Given the description of an element on the screen output the (x, y) to click on. 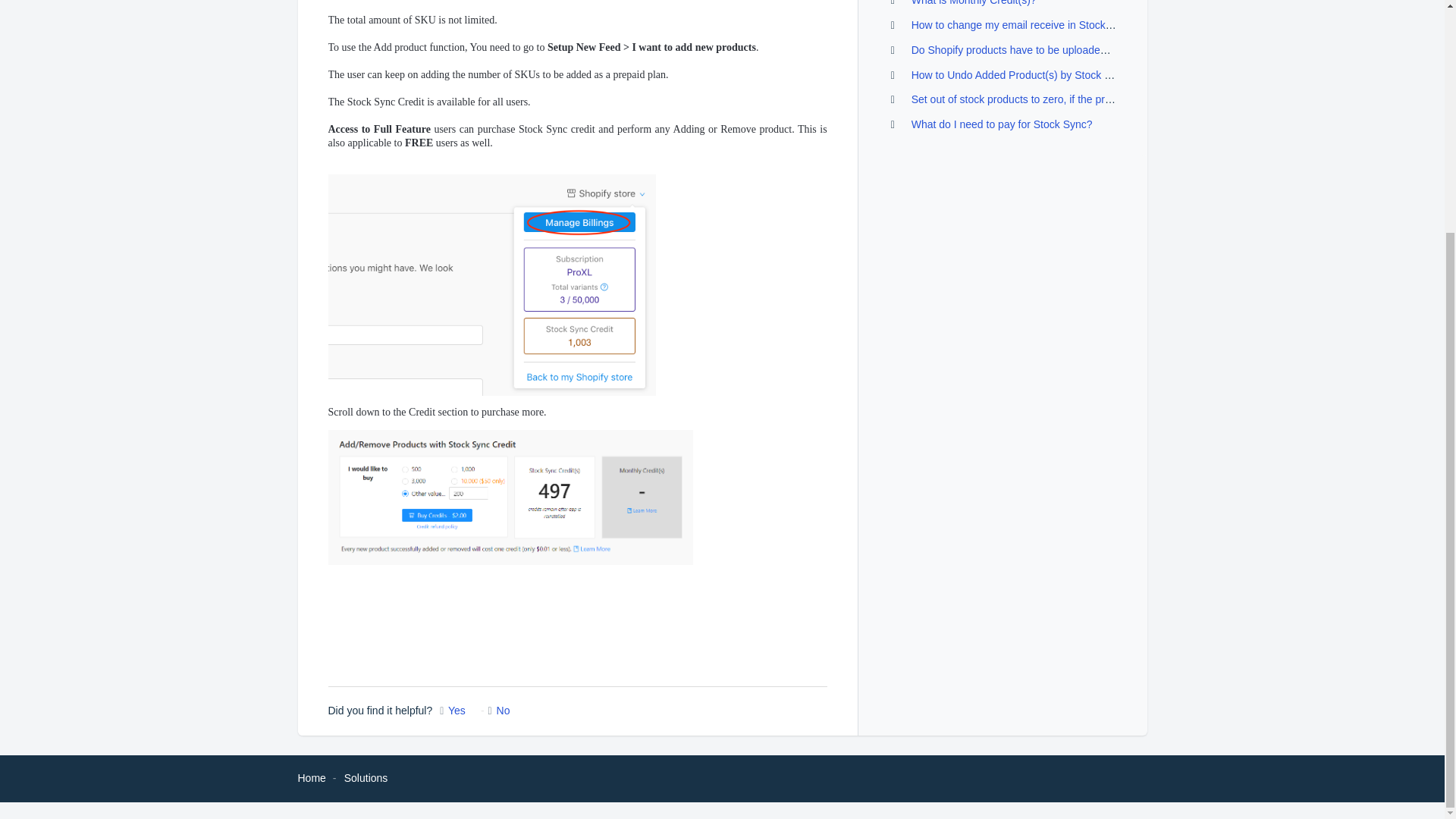
Home (310, 777)
How to change my email receive in Stock Sync? (1024, 24)
What do I need to pay for Stock Sync? (1002, 123)
Solutions (365, 777)
